Given the description of an element on the screen output the (x, y) to click on. 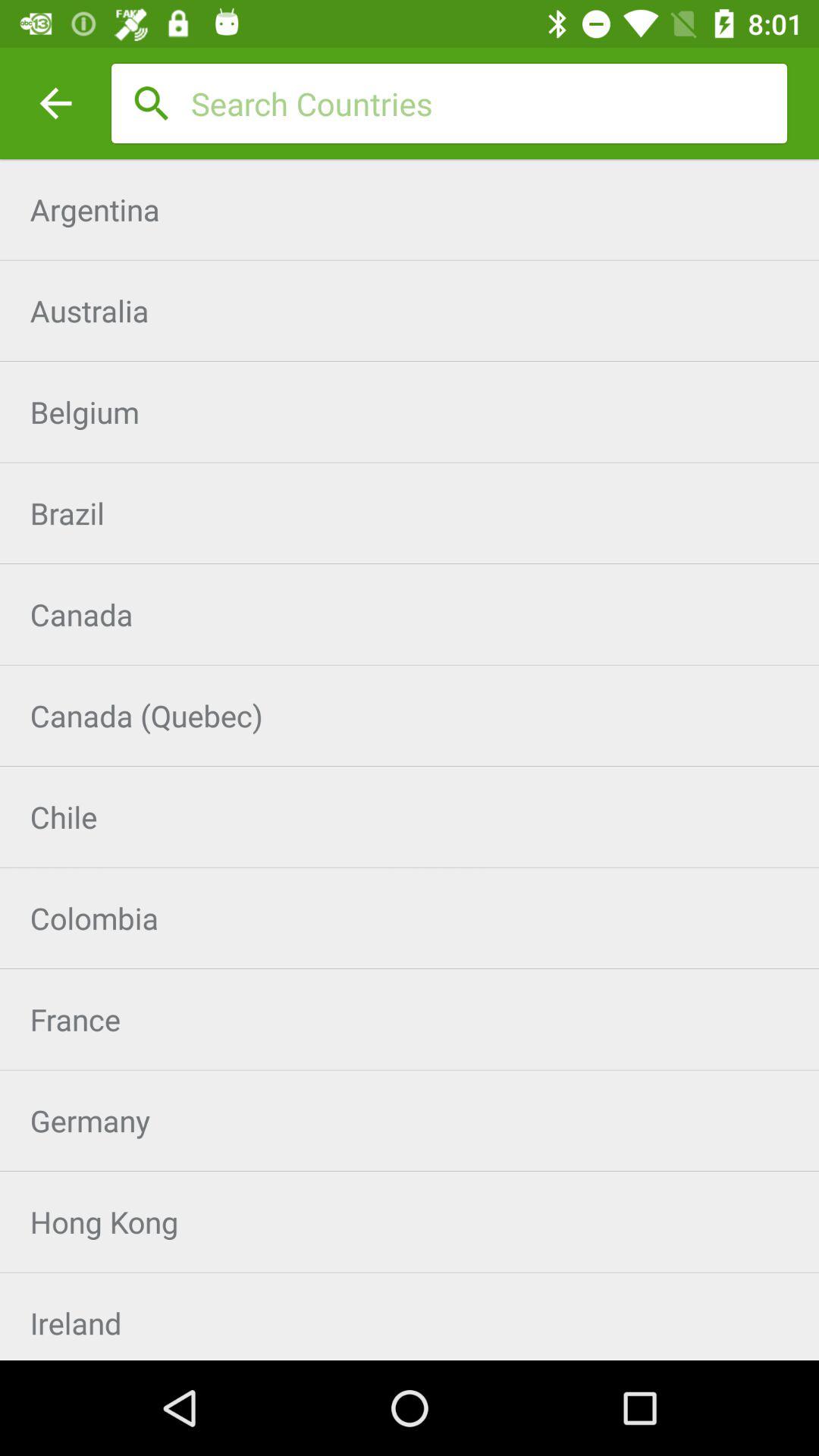
swipe until chile item (409, 816)
